Given the description of an element on the screen output the (x, y) to click on. 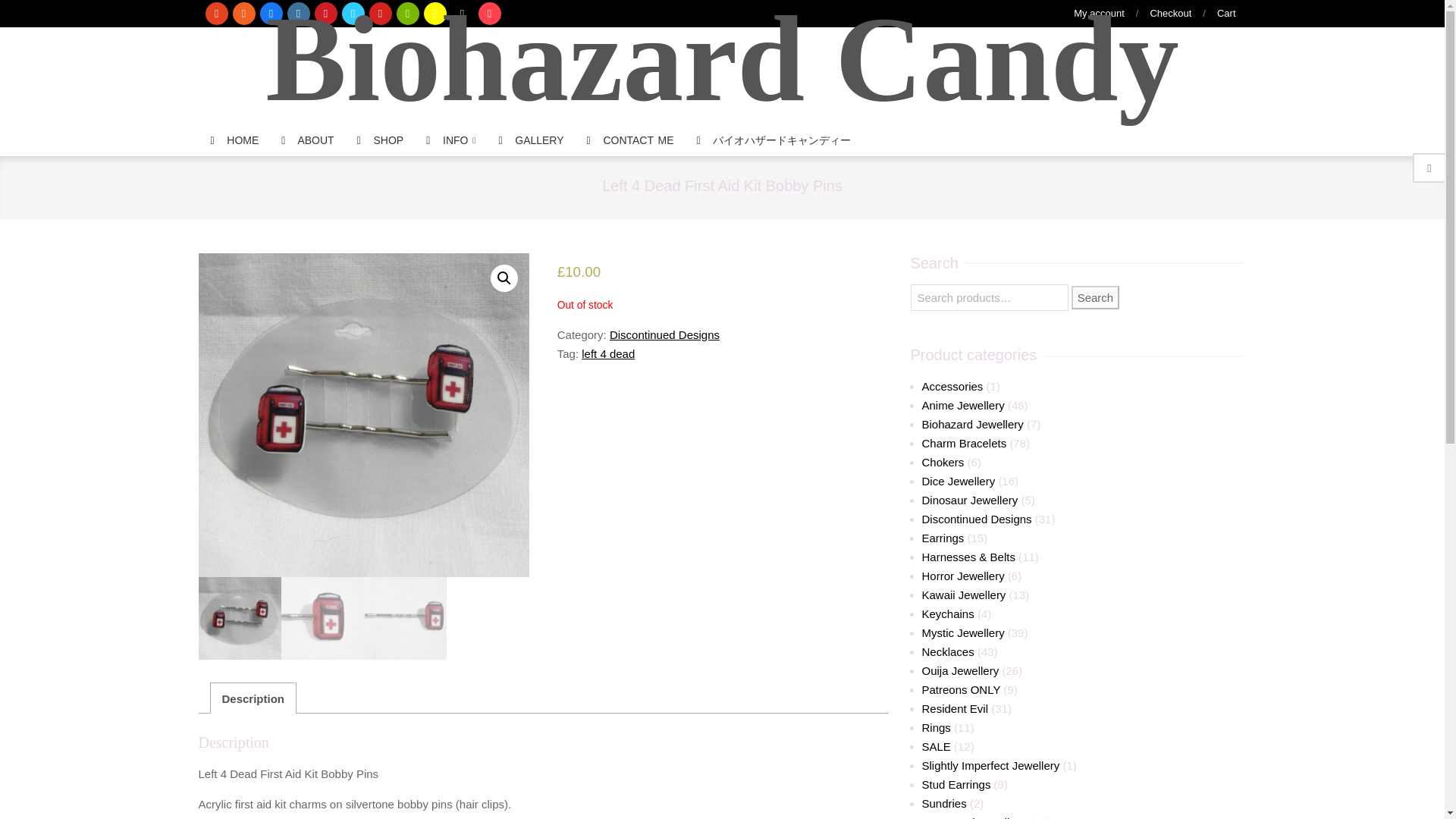
left 4 dead (607, 353)
Checkout (1170, 12)
ABOUT (307, 140)
HOME (233, 140)
CONTACT ME (630, 140)
Description (252, 698)
INFO (450, 140)
Discontinued Designs (664, 334)
Biohazard Candy (721, 63)
Cart (1226, 12)
SHOP (380, 140)
GALLERY (530, 140)
P6230031 (363, 415)
My account (1099, 12)
